Given the description of an element on the screen output the (x, y) to click on. 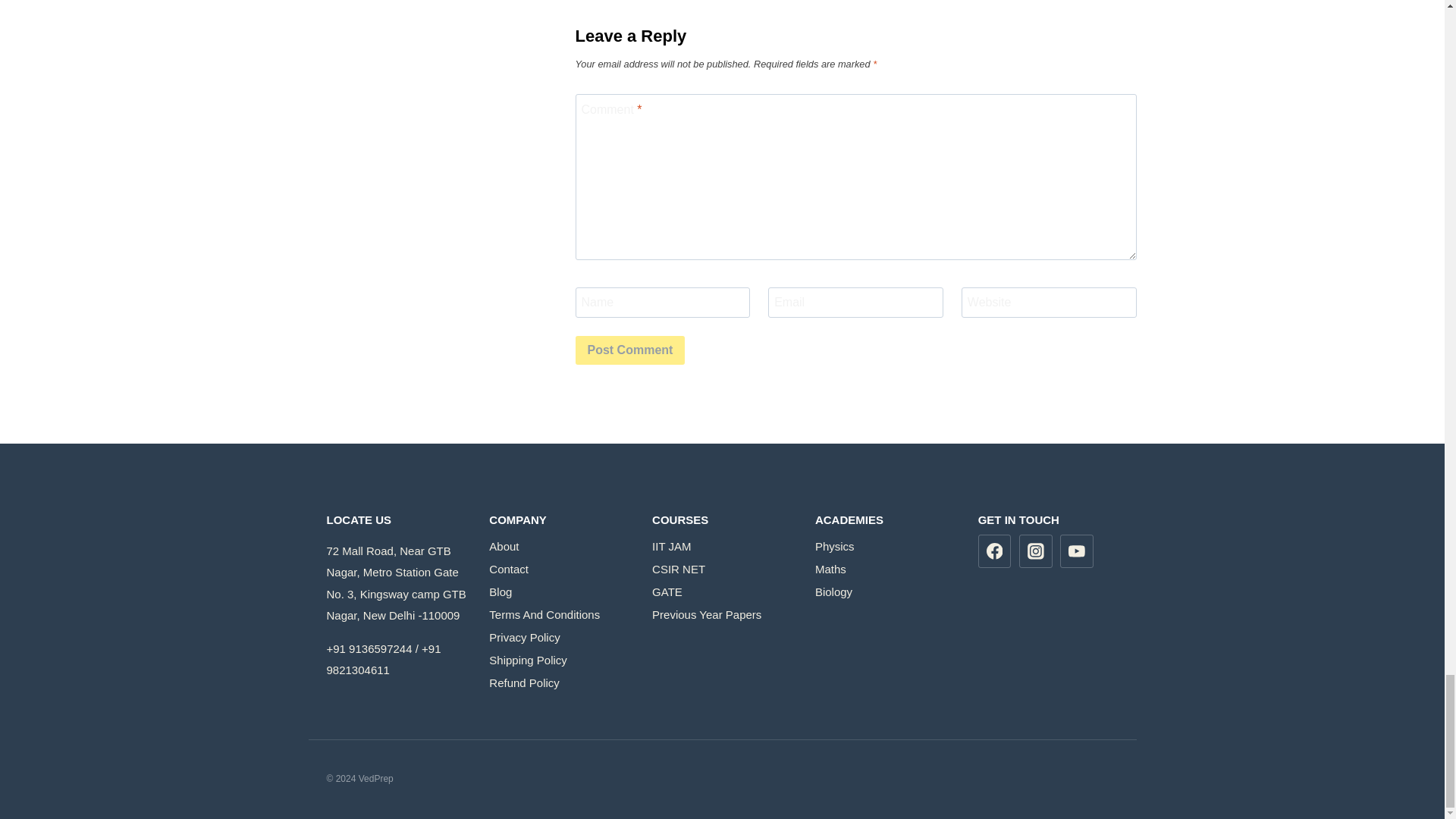
Post Comment (629, 349)
Post Comment (629, 349)
